Given the description of an element on the screen output the (x, y) to click on. 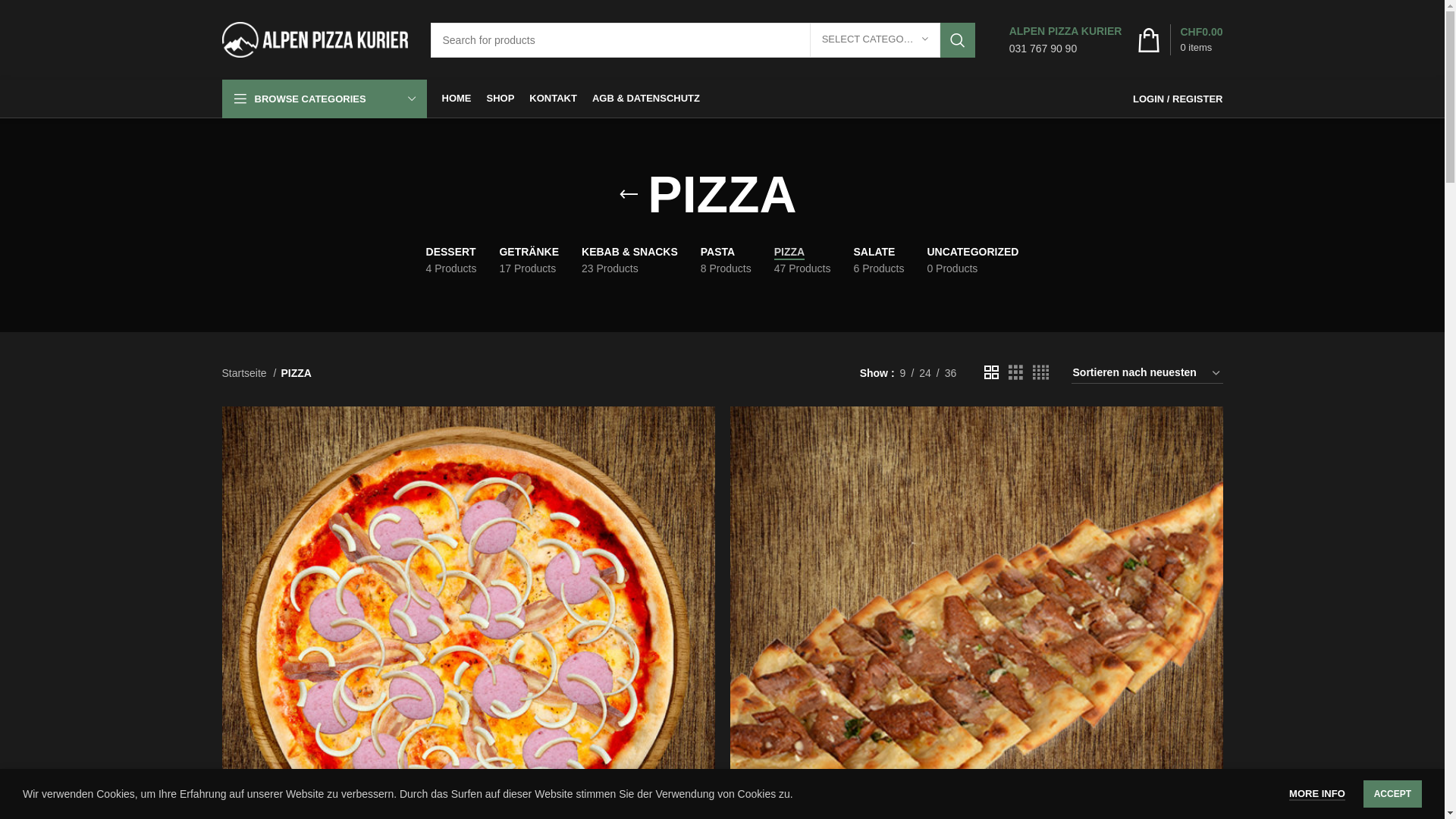
ACCEPT Element type: text (1392, 793)
HOME Element type: text (455, 98)
SEARCH Element type: text (957, 39)
UNCATEGORIZED
0 Products Element type: text (972, 260)
9 Element type: text (902, 372)
36 Element type: text (950, 372)
0 items
CHF0.00 Element type: text (1179, 39)
24 Element type: text (924, 372)
DESSERT
4 Products Element type: text (451, 260)
Search for products Element type: hover (702, 39)
SELECT CATEGORY Element type: text (874, 39)
ALPEN PIZZA KURIER
031 767 90 90 Element type: text (1065, 39)
MORE INFO Element type: text (1317, 793)
LOGIN / REGISTER Element type: text (1177, 98)
PASTA
8 Products Element type: text (725, 260)
SALATE
6 Products Element type: text (878, 260)
KEBAB & SNACKS
23 Products Element type: text (629, 260)
AGB & DATENSCHUTZ Element type: text (645, 98)
PIZZA
47 Products Element type: text (802, 260)
KONTAKT Element type: text (553, 98)
Startseite Element type: text (248, 372)
SHOP Element type: text (500, 98)
